Given the description of an element on the screen output the (x, y) to click on. 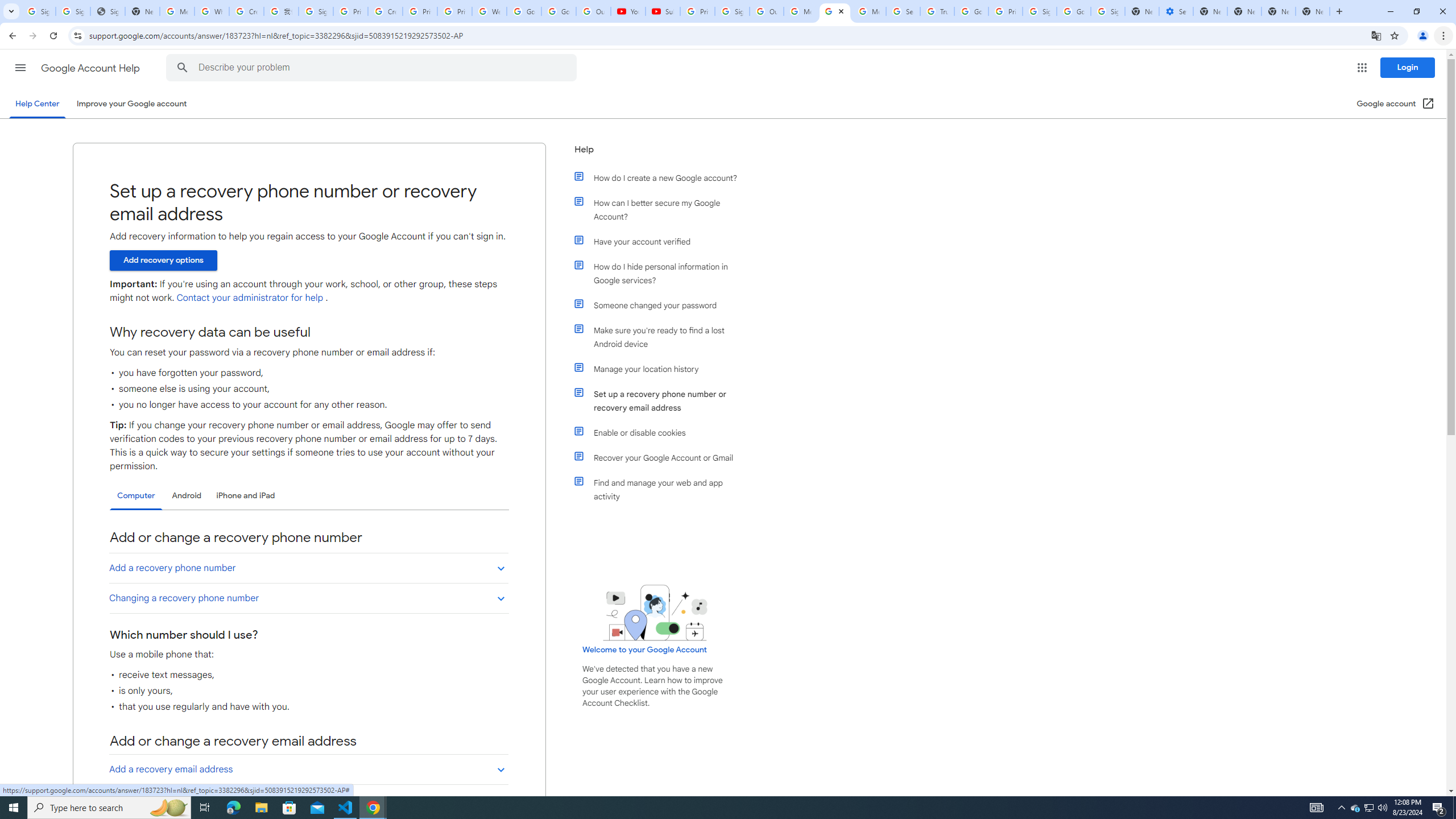
Settings - Performance (1176, 11)
Sign in - Google Accounts (1107, 11)
Help (656, 153)
Welcome to your Google Account (644, 649)
Changing a recovery email address (308, 799)
New Tab (1312, 11)
Search our Doodle Library Collection - Google Doodles (903, 11)
Who is my administrator? - Google Account Help (211, 11)
Manage your location history (661, 368)
Recover your Google Account or Gmail (661, 457)
Sign in - Google Accounts (732, 11)
